Given the description of an element on the screen output the (x, y) to click on. 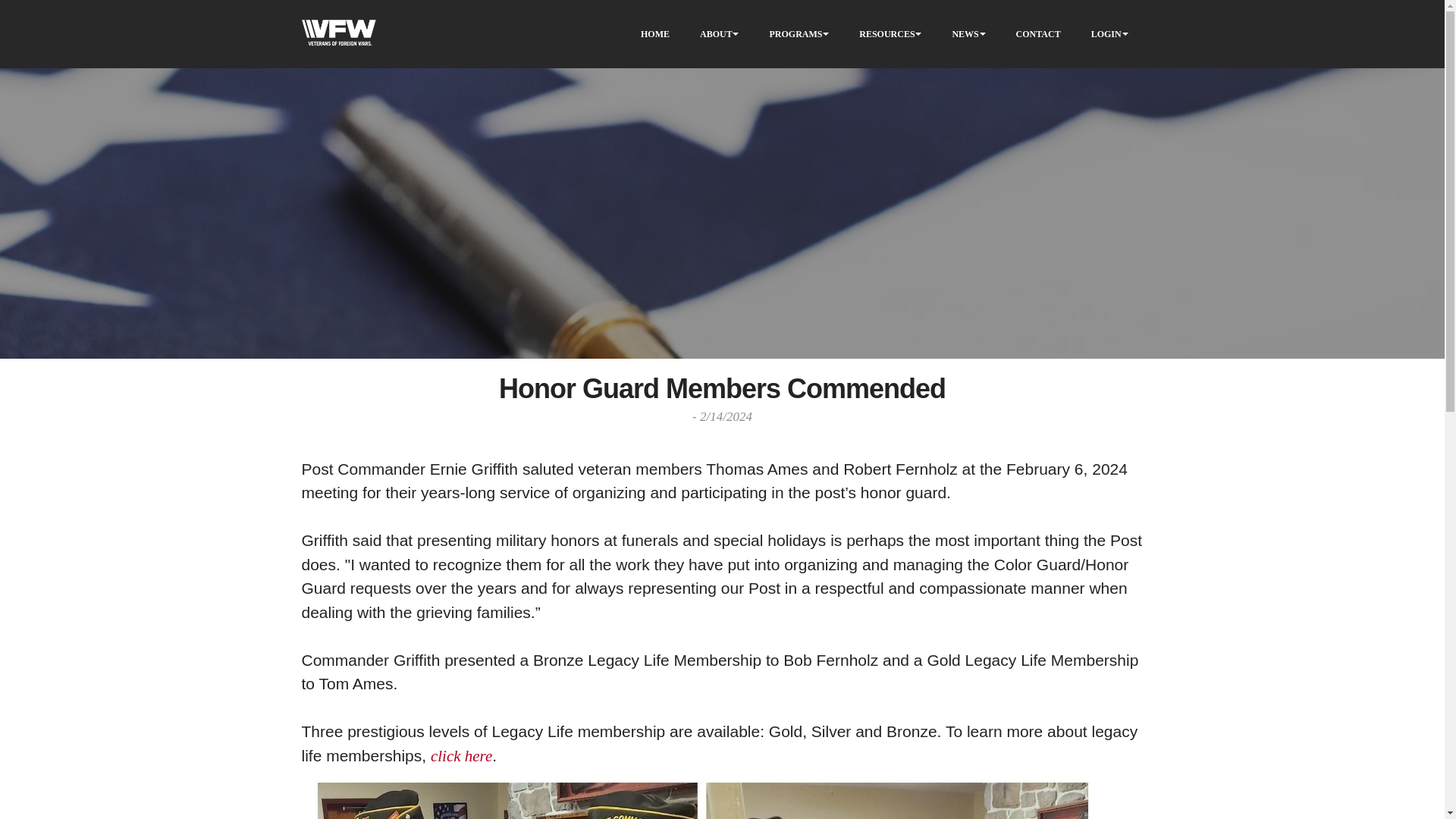
Veterans of Foreign Wars (338, 34)
LOGIN (1105, 33)
PROGRAMS (795, 33)
CONTACT (1038, 33)
NEWS (965, 33)
RESOURCES (886, 33)
ABOUT (716, 33)
HOME (654, 33)
